Given the description of an element on the screen output the (x, y) to click on. 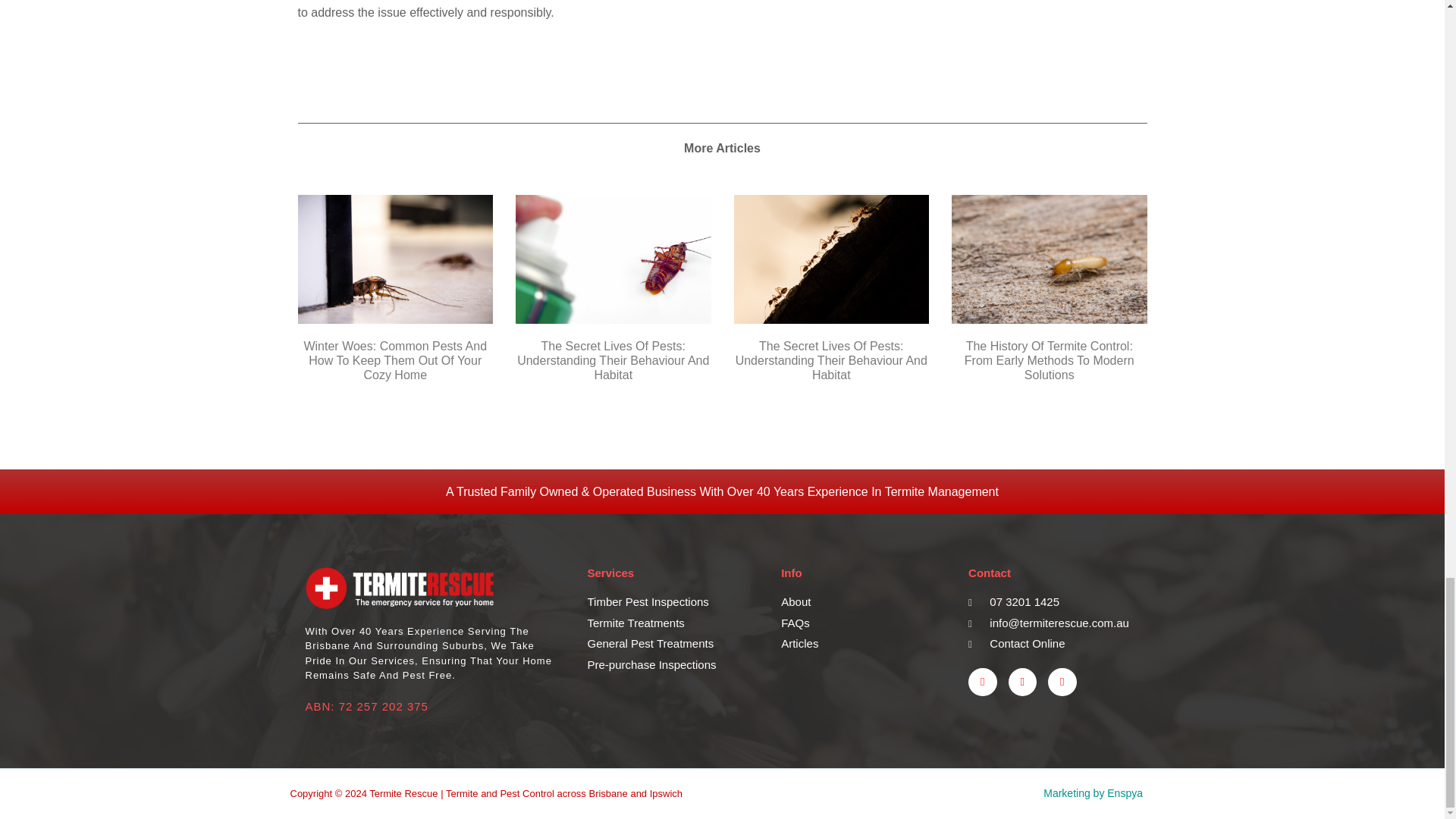
About (858, 601)
Termite Treatments (668, 623)
Contact Online (1053, 643)
FAQs (858, 623)
Brisbane Based General Pest Treatment Services (668, 643)
07 3201 1425 (1053, 601)
Brisbane Timber Pest Inspections (668, 601)
Timber Pest Inspections (668, 601)
Pre-purchase Inspections (668, 665)
Brisbane Pest and Termite Treatment Services (668, 633)
Termite Treatment Services Brisbane (668, 623)
General Pest Treatments (668, 643)
